Given the description of an element on the screen output the (x, y) to click on. 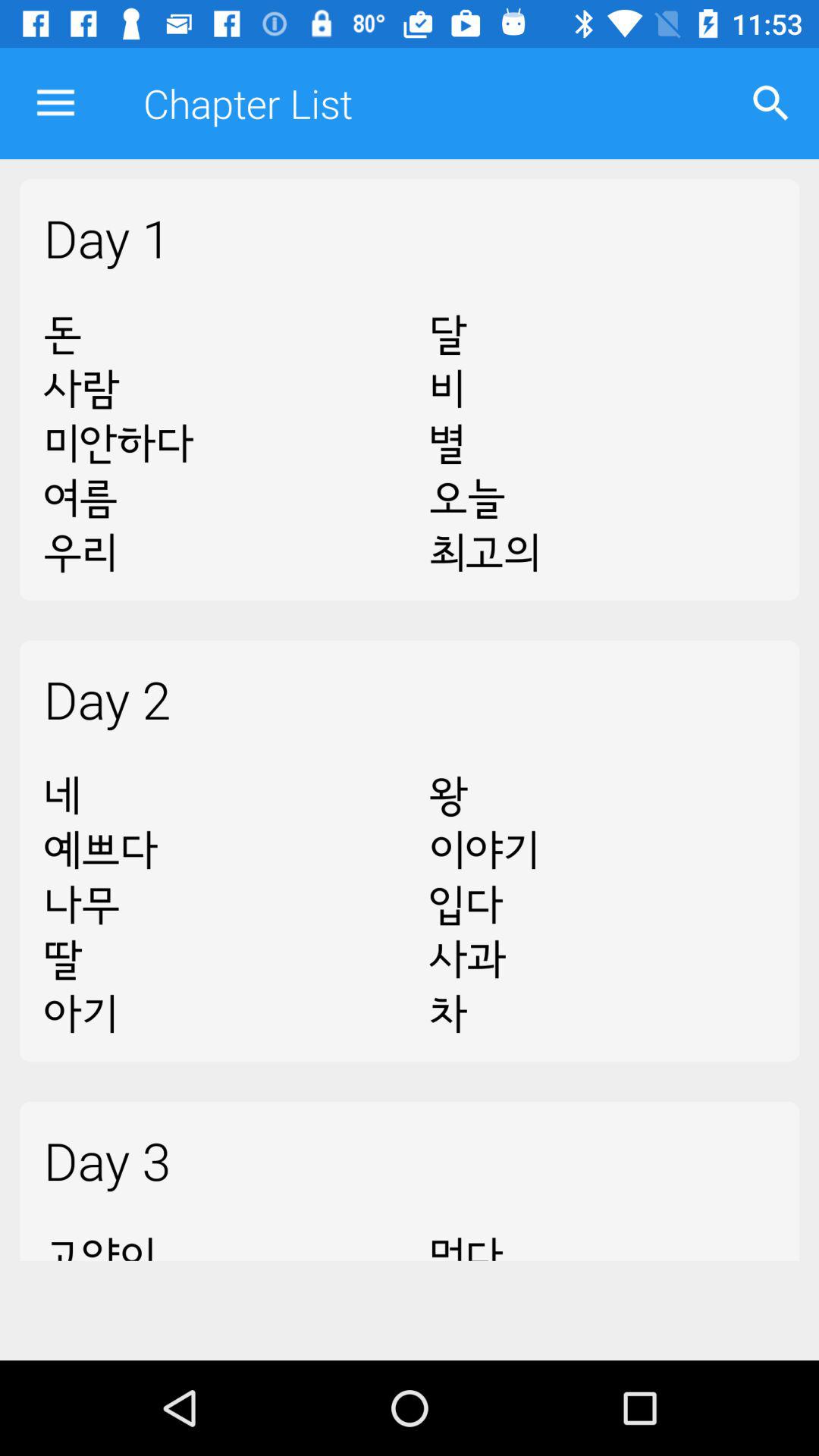
select the item to the left of chapter list icon (55, 103)
